Given the description of an element on the screen output the (x, y) to click on. 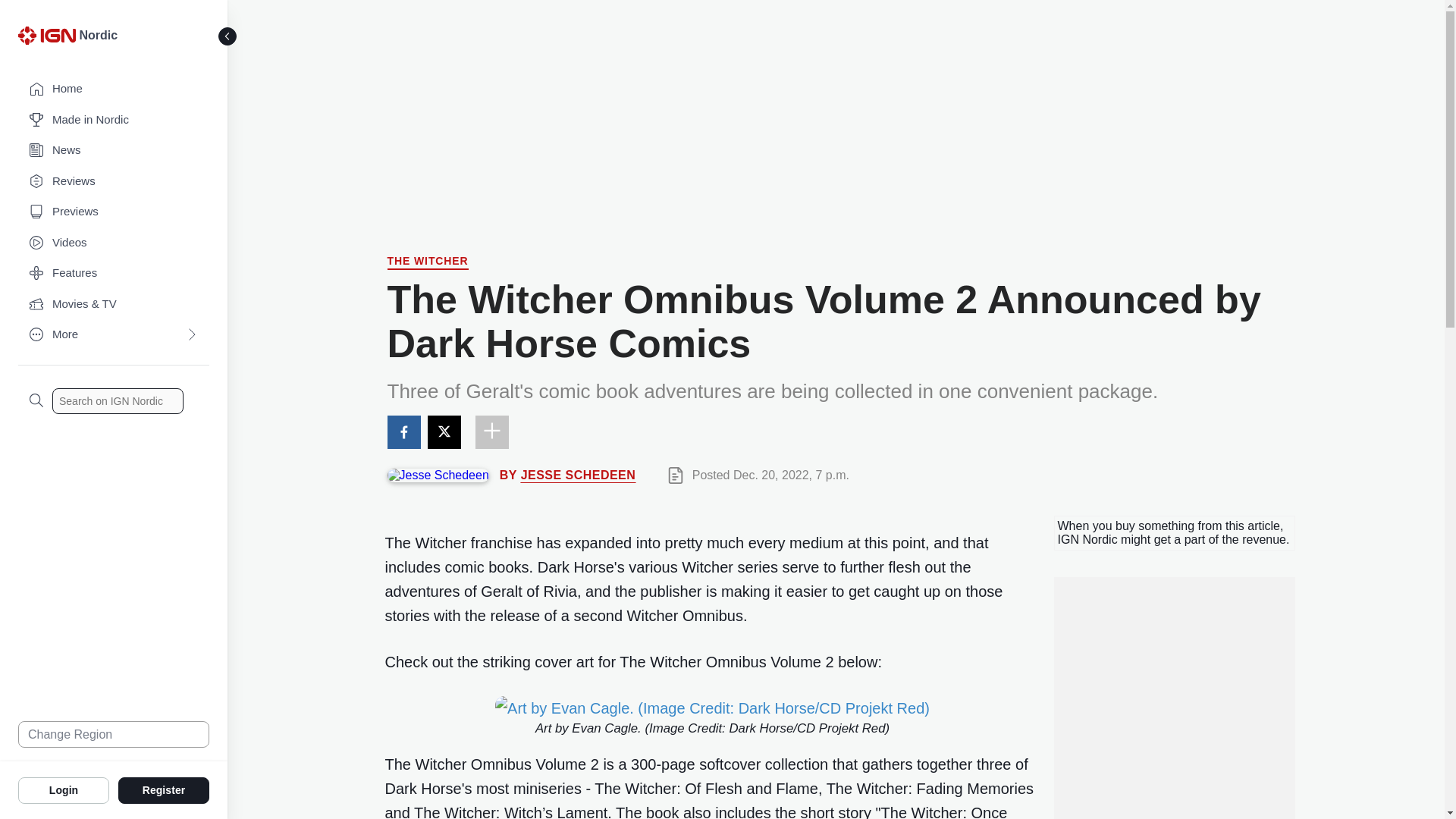
Reviews (113, 181)
Videos (113, 242)
IGN Logo (48, 39)
More (113, 334)
Register (163, 789)
THE WITCHER (427, 262)
JESSE SCHEDEEN (578, 474)
Previews (113, 211)
The Witcher (427, 262)
Home (113, 89)
News (113, 150)
IGN Logo (46, 34)
Features (113, 273)
Made in Nordic (113, 119)
Login (63, 789)
